Given the description of an element on the screen output the (x, y) to click on. 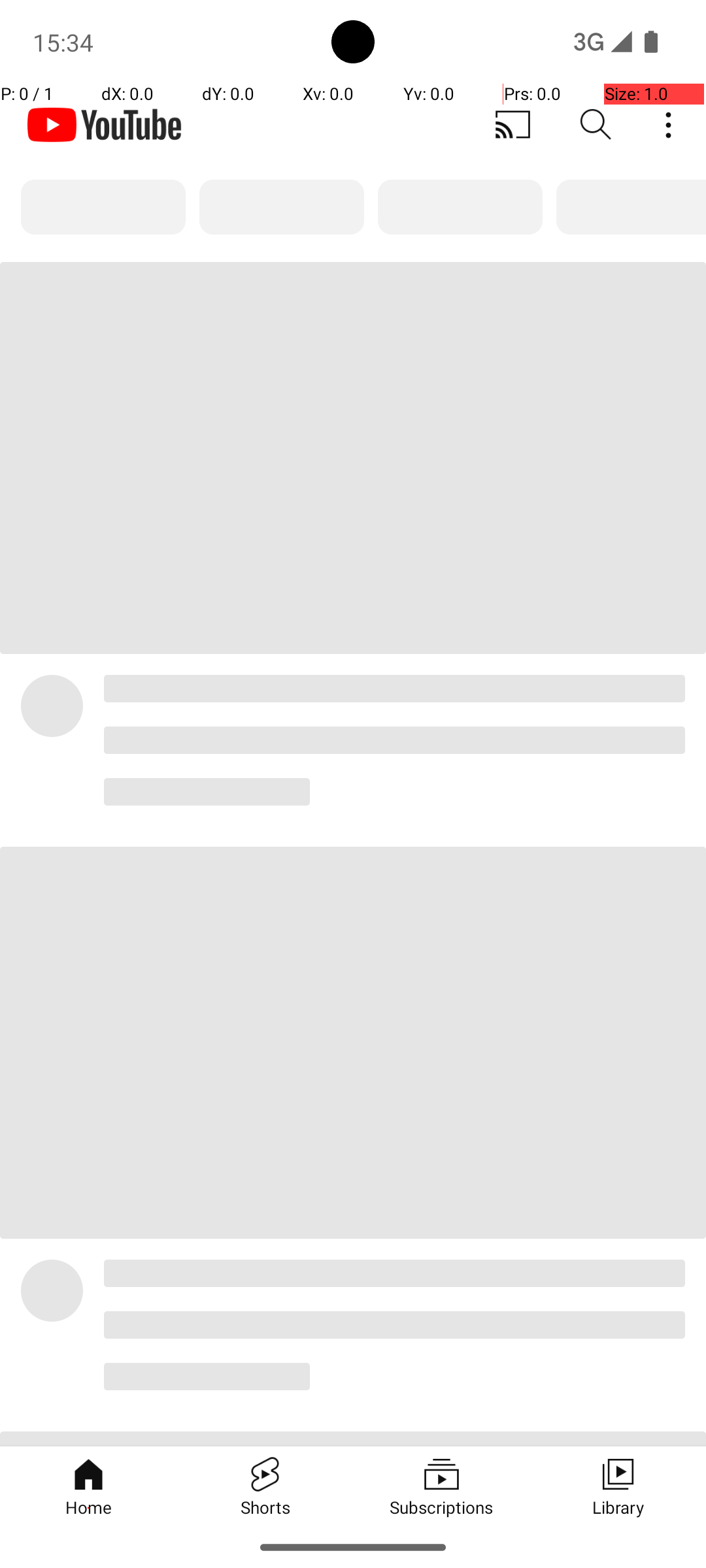
filters Element type: android.support.v7.widget.RecyclerView (353, 206)
Cast. Disconnected Element type: android.view.View (512, 124)
Shorts Element type: android.widget.Button (264, 1485)
